Given the description of an element on the screen output the (x, y) to click on. 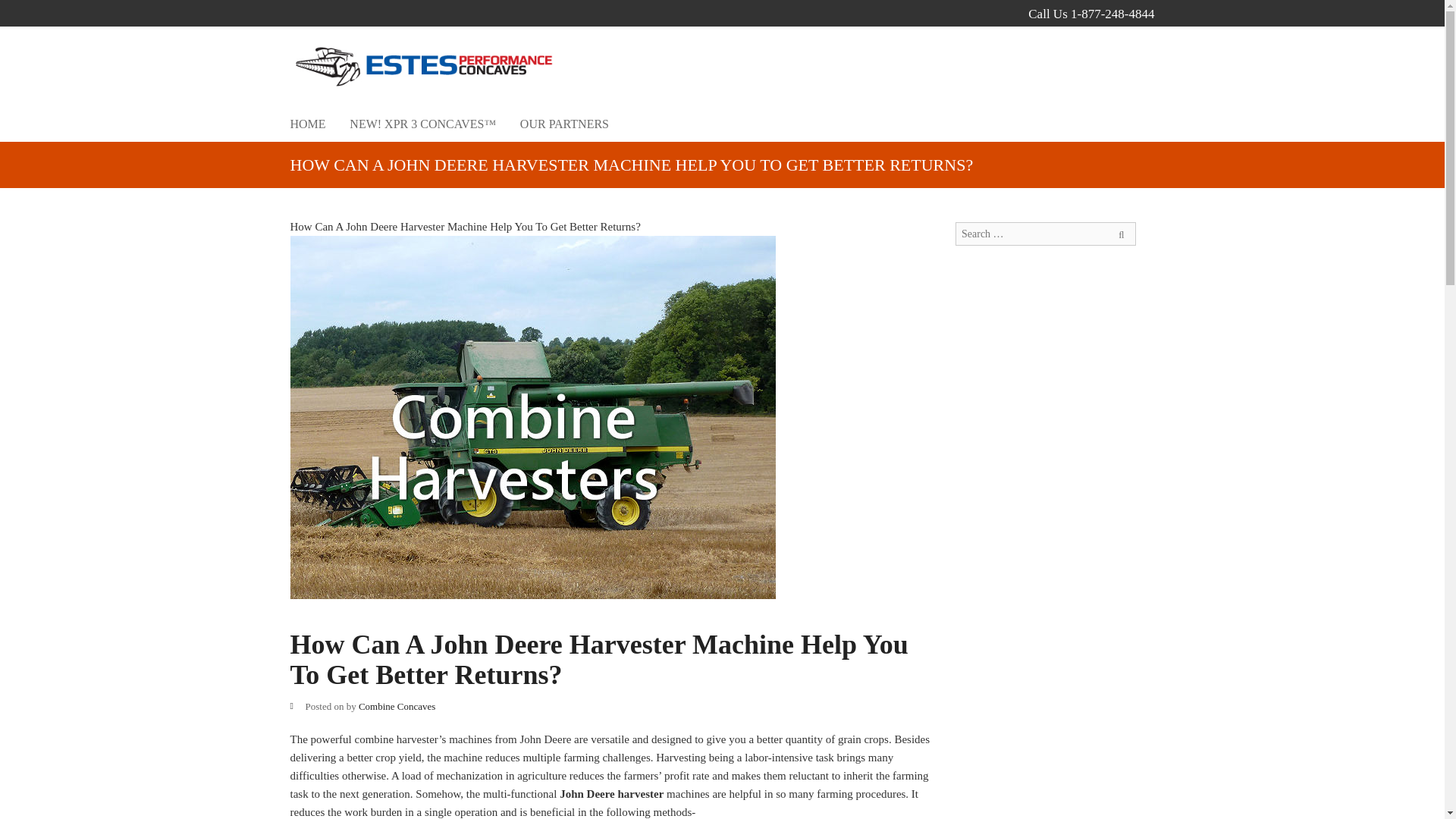
John Deere harvester (611, 793)
Combine Concaves (396, 706)
HOME (306, 123)
OUR PARTNERS (563, 123)
